Given the description of an element on the screen output the (x, y) to click on. 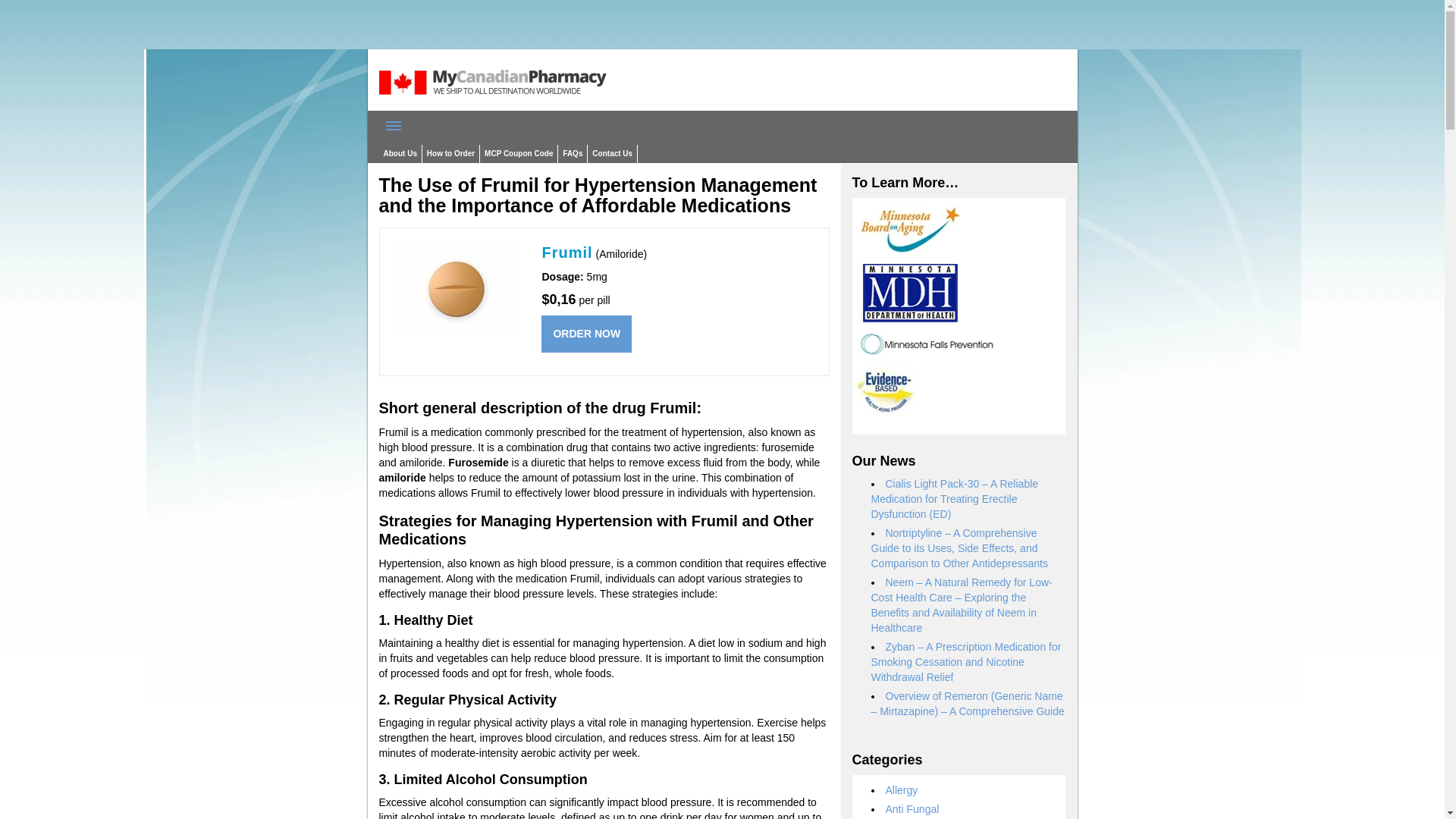
Contact Us (612, 153)
My Canadian Pharmacy (492, 102)
How to Order (450, 153)
Anti Fungal (912, 808)
FAQs (571, 153)
Allergy (901, 789)
About Us (400, 153)
Menu (393, 125)
ORDER NOW (586, 333)
MCP Coupon Code (518, 153)
